Given the description of an element on the screen output the (x, y) to click on. 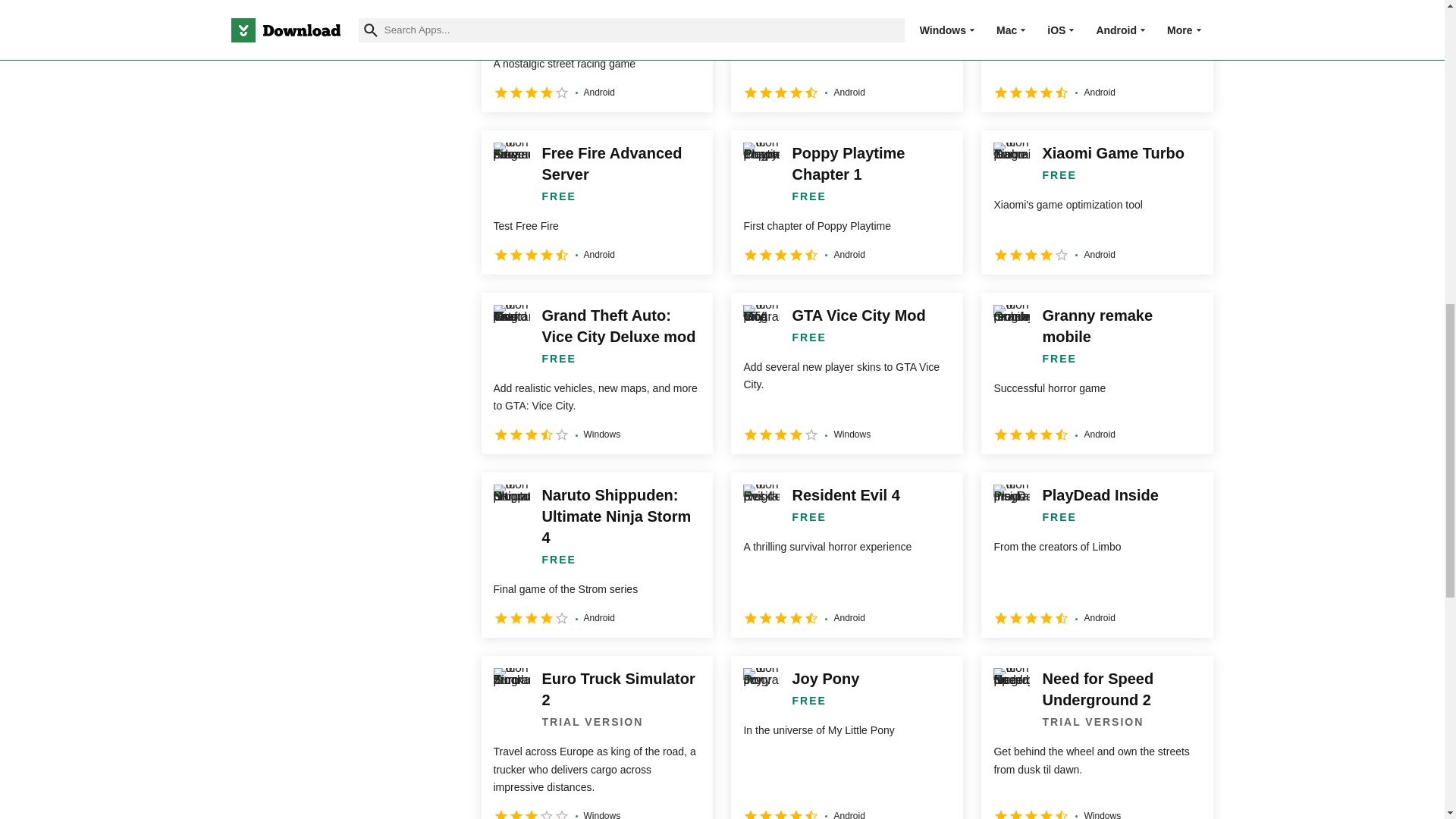
games-sudoku-crossword (239, 94)
Grand Theft Auto: Vice City Deluxe mod (596, 373)
Aim Tool for 8 Ball Pool (846, 56)
Granny remake mobile (1096, 373)
Naruto Shippuden: Ultimate Ninja Storm 4 (596, 555)
games-strategy-war (239, 57)
Poppy Playtime Chapter 1 (846, 202)
games-sports (239, 21)
Need for Speed Underground 2 (596, 56)
Forza Horizon 5 (1096, 56)
